Given the description of an element on the screen output the (x, y) to click on. 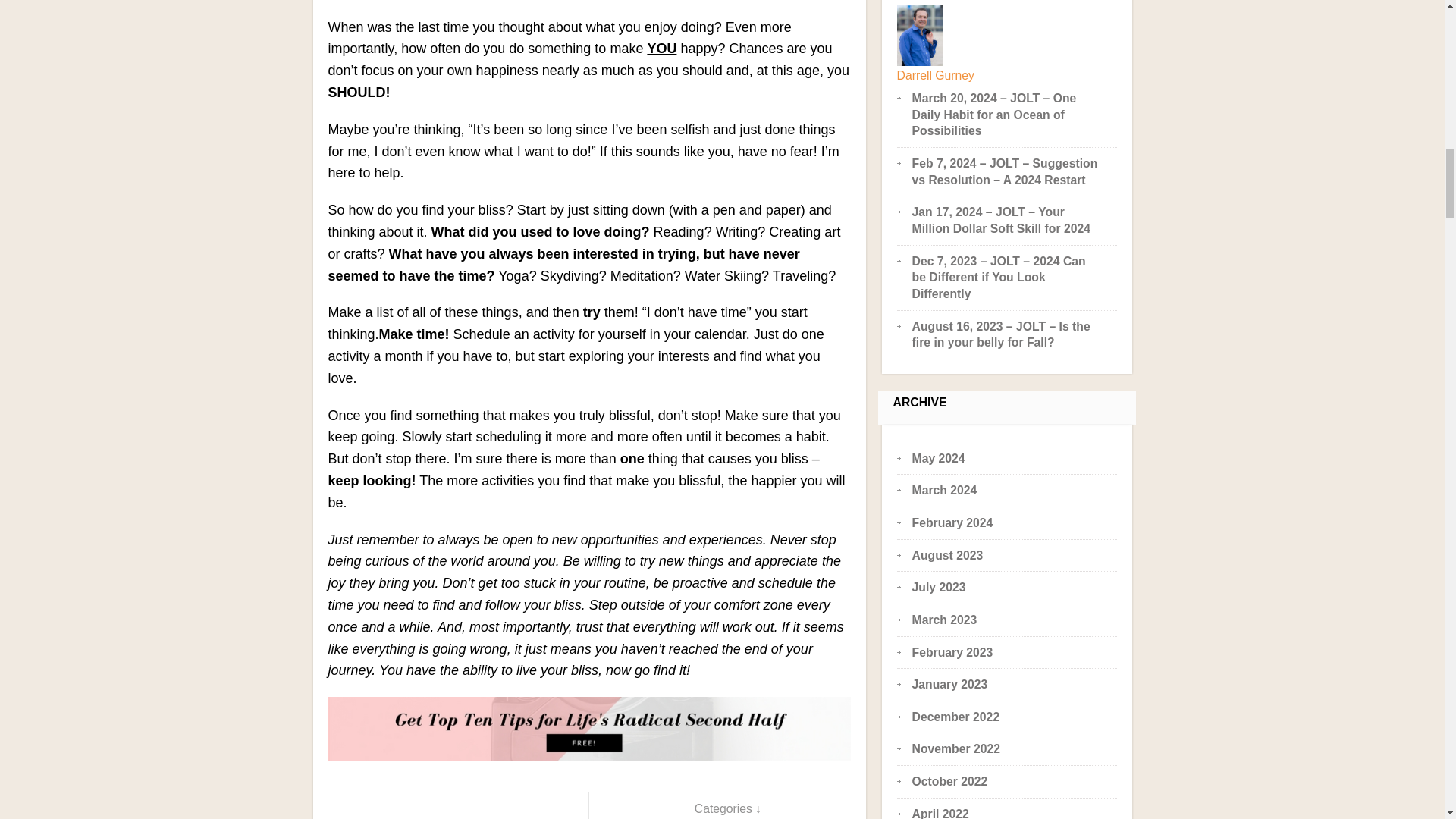
Posts by Darrell Gurney (935, 74)
